Given the description of an element on the screen output the (x, y) to click on. 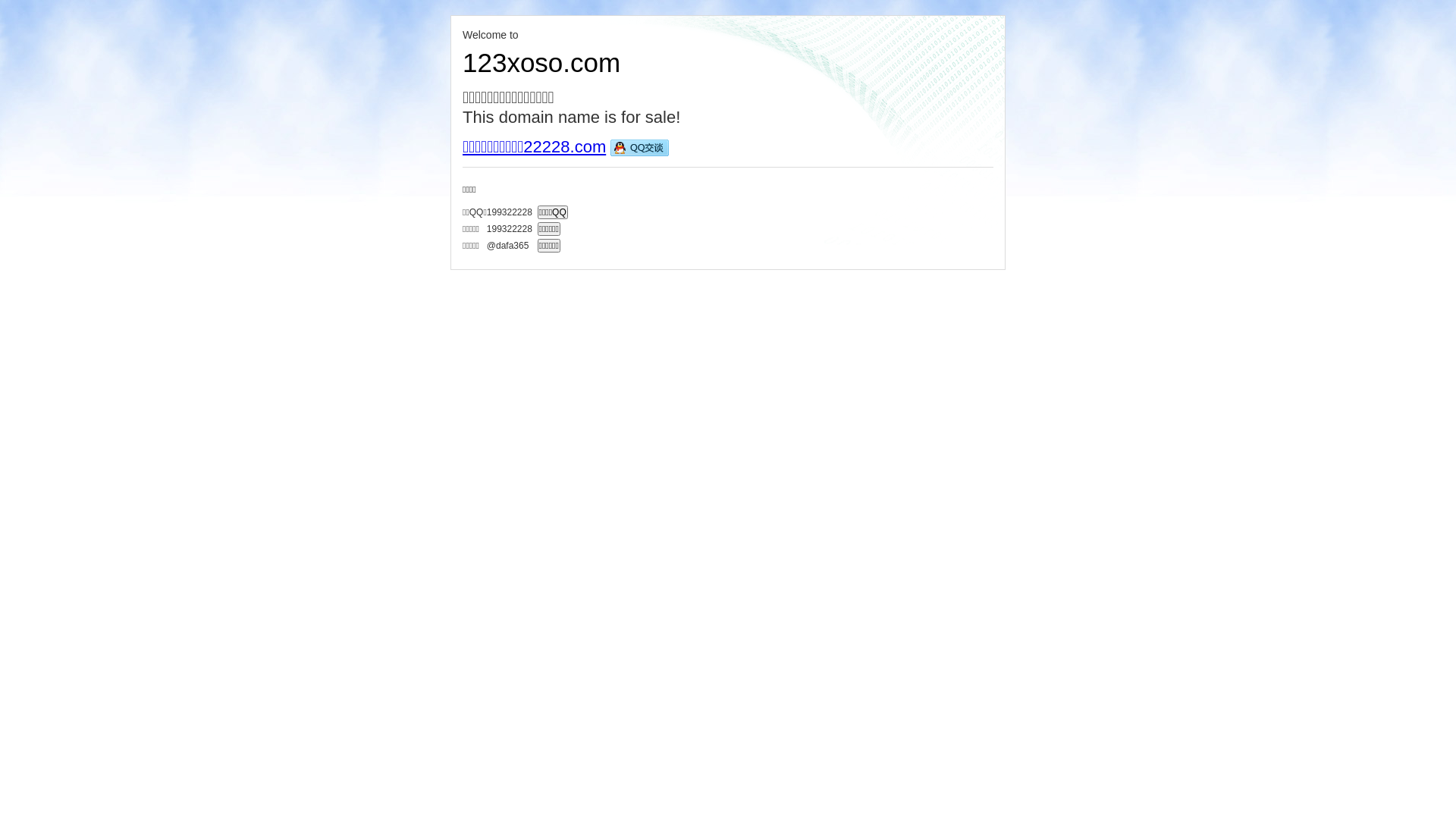
@dafa365 Element type: text (509, 244)
199322228 Element type: text (509, 211)
199322228 Element type: text (509, 227)
